Given the description of an element on the screen output the (x, y) to click on. 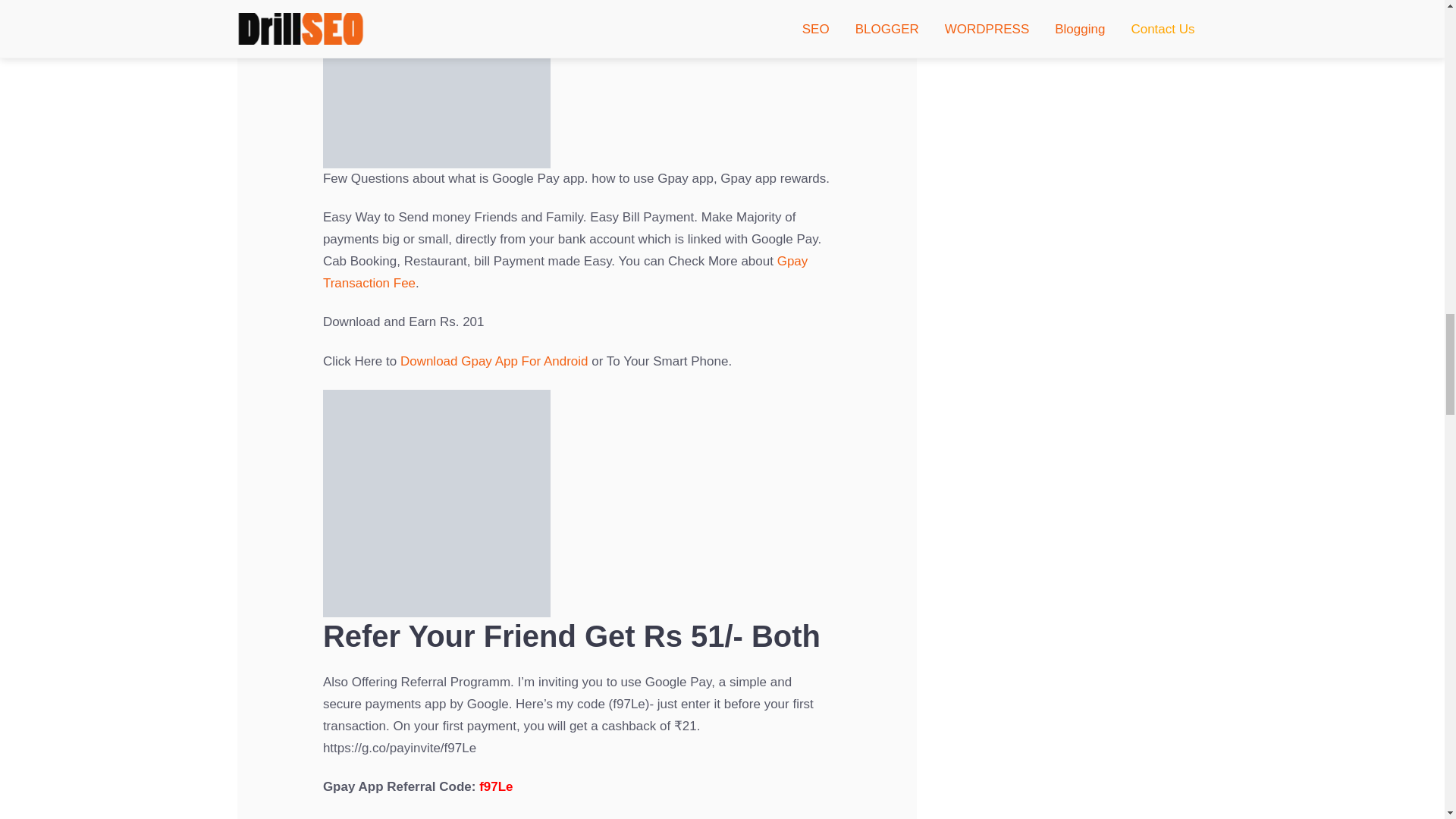
Gpay Transaction Fee (565, 271)
Download Gpay App For Android (494, 360)
